Given the description of an element on the screen output the (x, y) to click on. 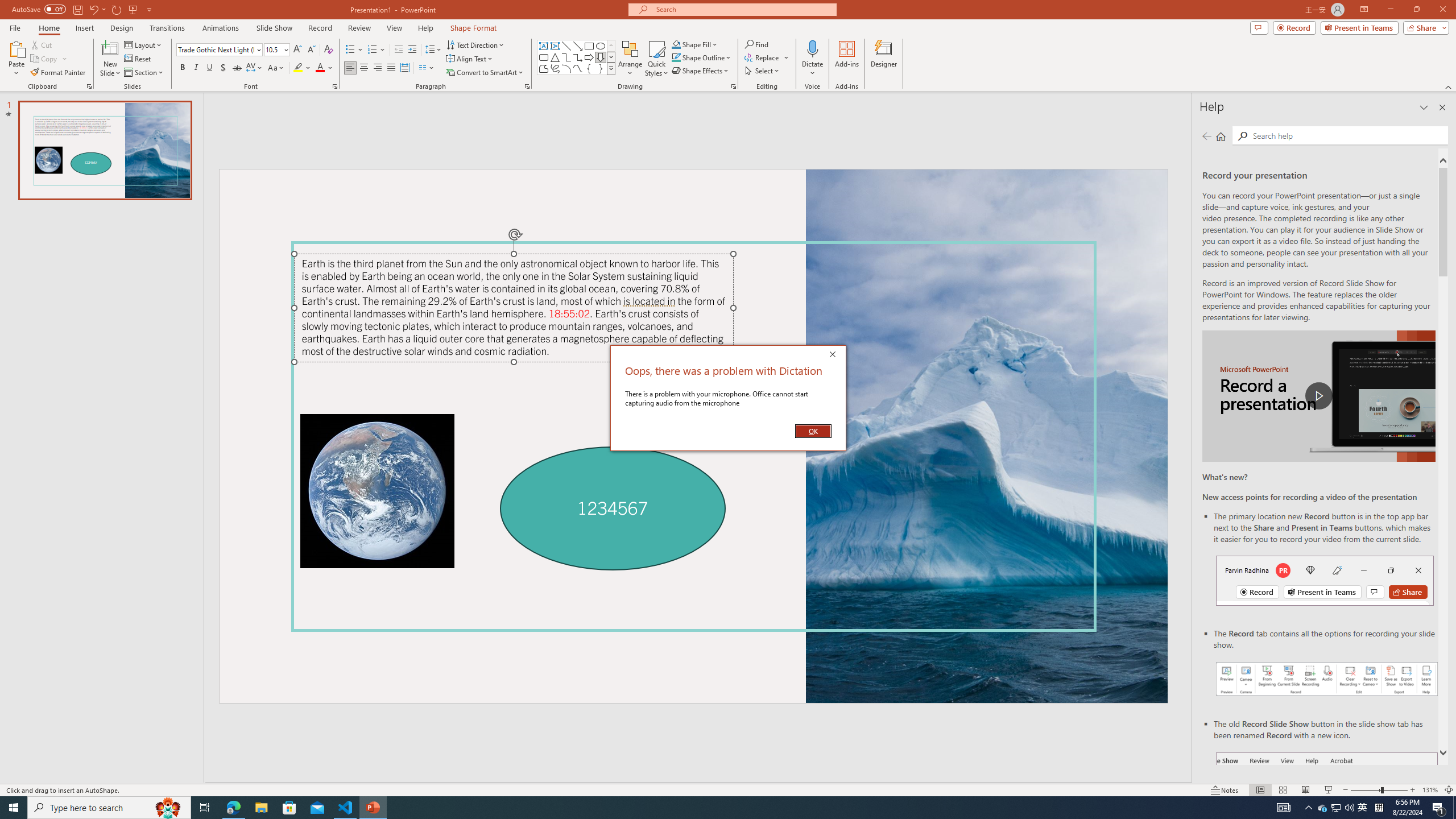
Record button in top bar (1324, 580)
Line (566, 45)
Microsoft Edge - 1 running window (233, 807)
Section (144, 72)
Insert (83, 28)
Cut (42, 44)
Freeform: Scribble (554, 68)
Notes  (1225, 790)
Paste (16, 58)
Convert to SmartArt (485, 72)
Slide Sorter (1282, 790)
Q2790: 100% (1349, 807)
File Explorer (261, 807)
Layout (143, 44)
Select (762, 69)
